Given the description of an element on the screen output the (x, y) to click on. 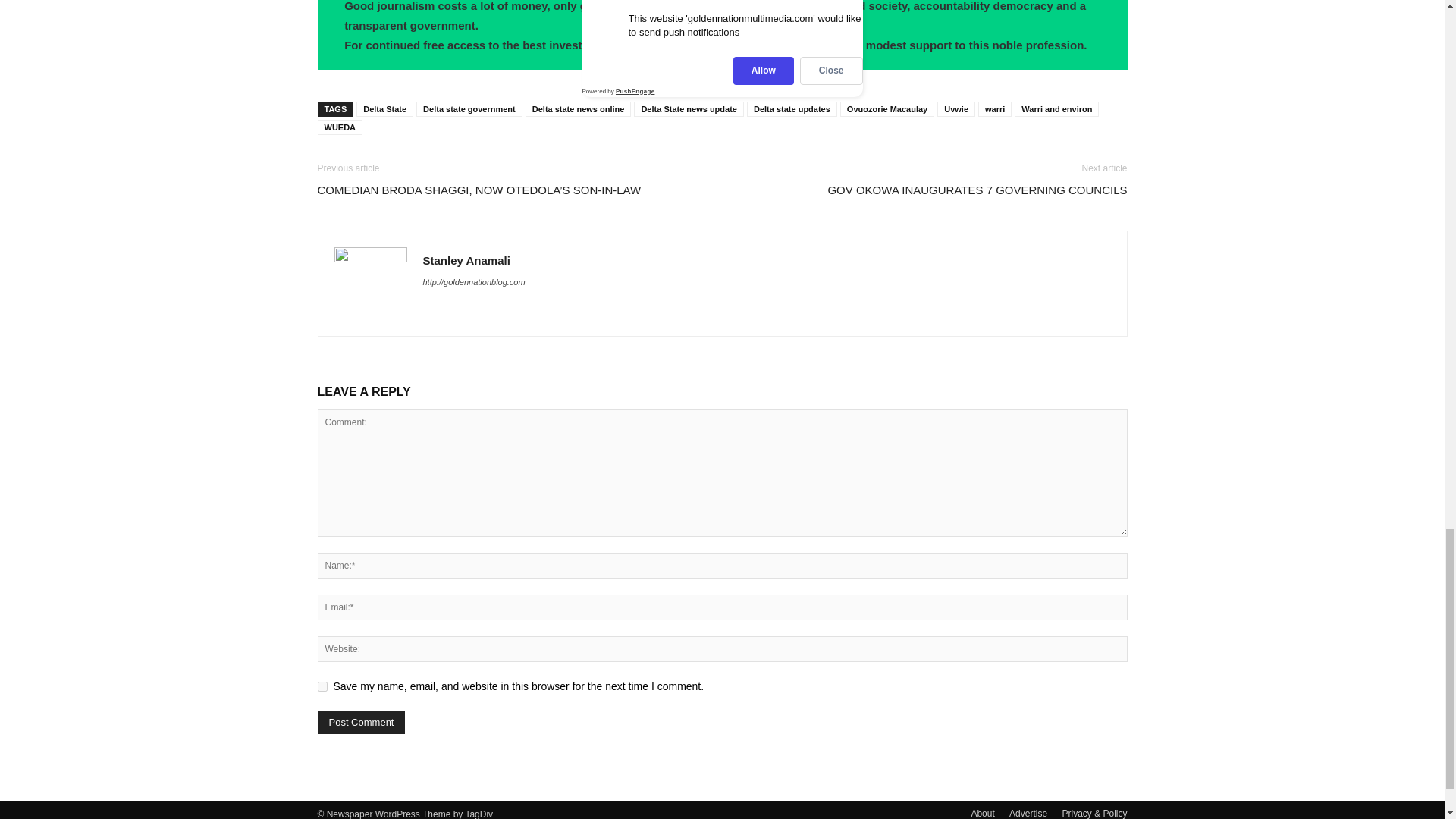
Delta State news update (688, 109)
Delta state updates (791, 109)
Ovuozorie Macaulay (887, 109)
Post Comment (360, 721)
Delta state government (469, 109)
About (982, 812)
Delta state news online (578, 109)
Stanley Anamali (467, 259)
Delta State (384, 109)
Post Comment (360, 721)
Advertise (1027, 812)
Uvwie (956, 109)
Warri and environ (1056, 109)
yes (321, 686)
WUEDA (339, 127)
